Given the description of an element on the screen output the (x, y) to click on. 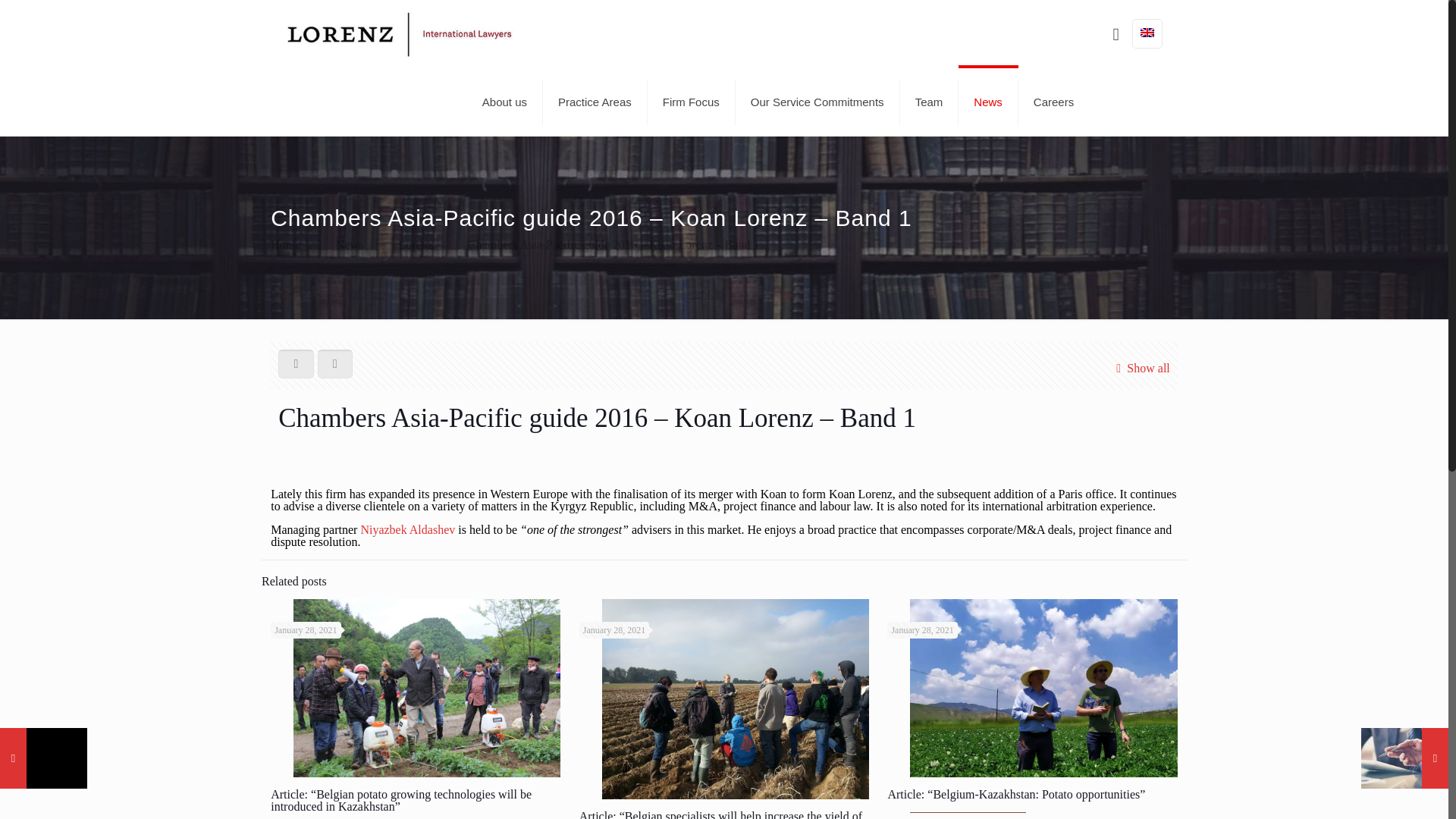
Lorenz (399, 33)
Practice Areas (595, 101)
About us (505, 101)
Firm Focus (691, 101)
